Given the description of an element on the screen output the (x, y) to click on. 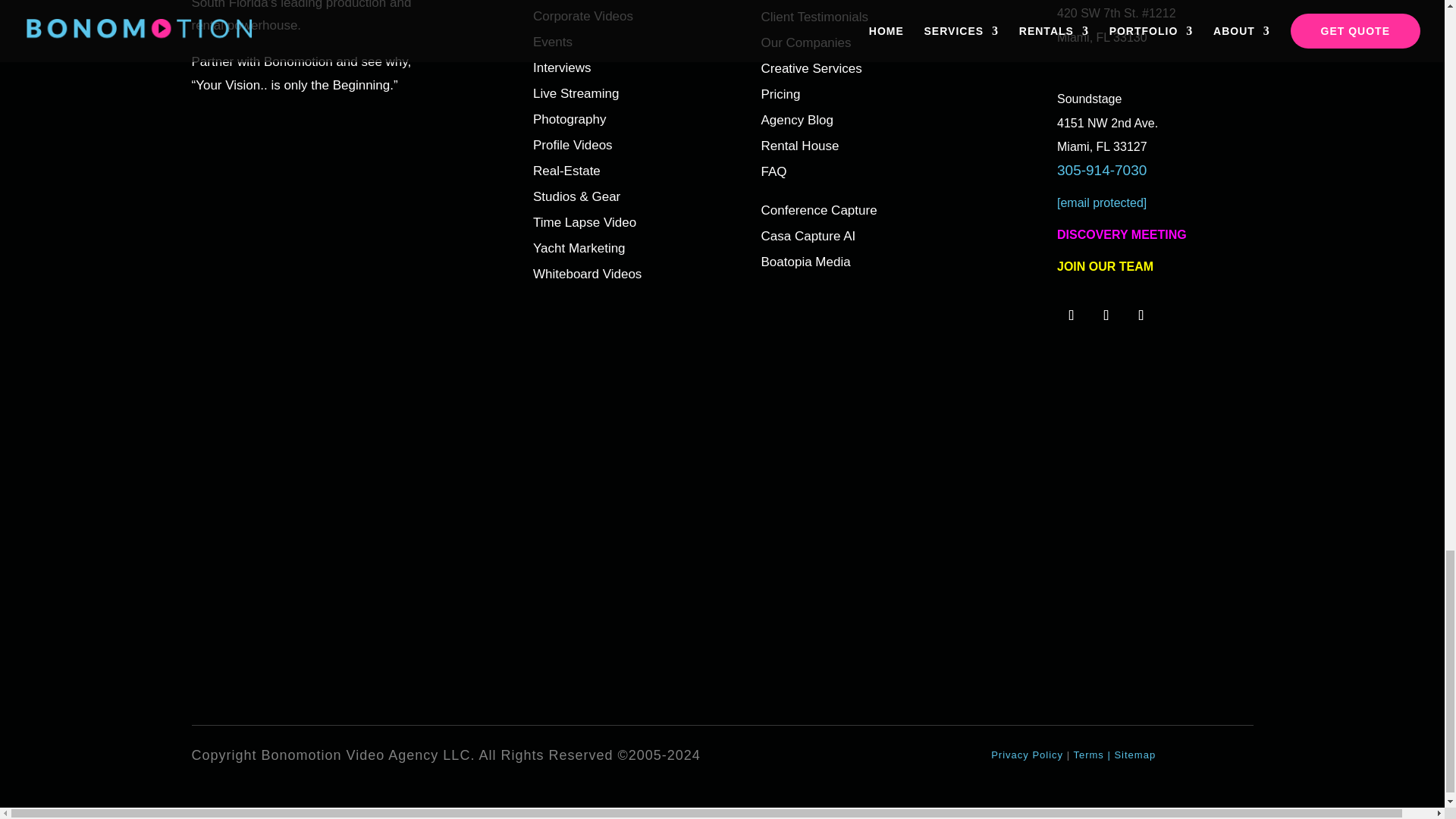
Follow on Facebook (1106, 315)
Corporate Videos (582, 16)
Follow on Youtube (1141, 315)
Follow on Instagram (1071, 315)
